Given the description of an element on the screen output the (x, y) to click on. 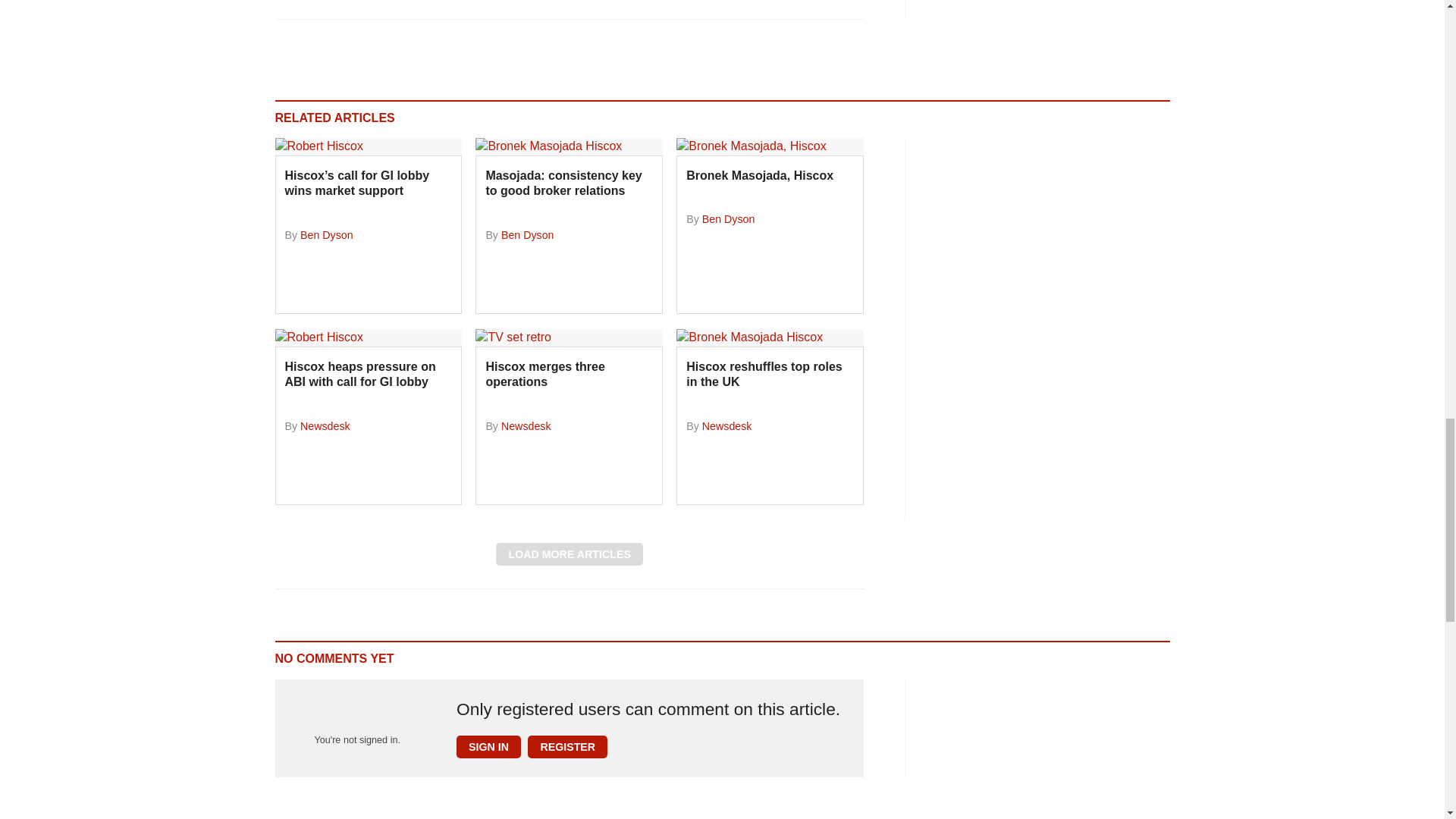
Share this on Facebook (288, 4)
Share this on Linked in (352, 4)
Share this on Twitter (320, 4)
No comments (840, 6)
Email this article (386, 4)
